Given the description of an element on the screen output the (x, y) to click on. 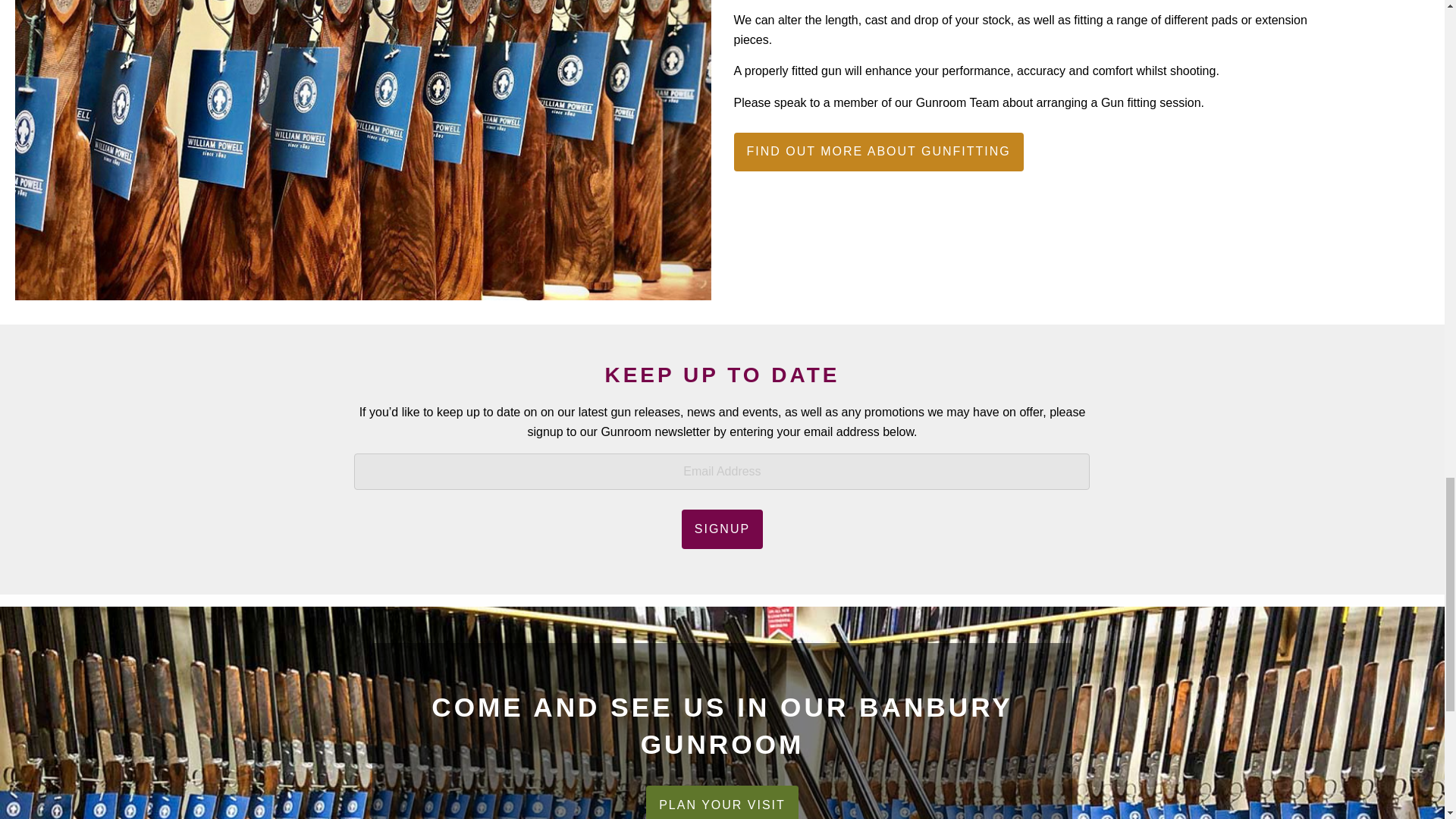
Signup (721, 528)
